Given the description of an element on the screen output the (x, y) to click on. 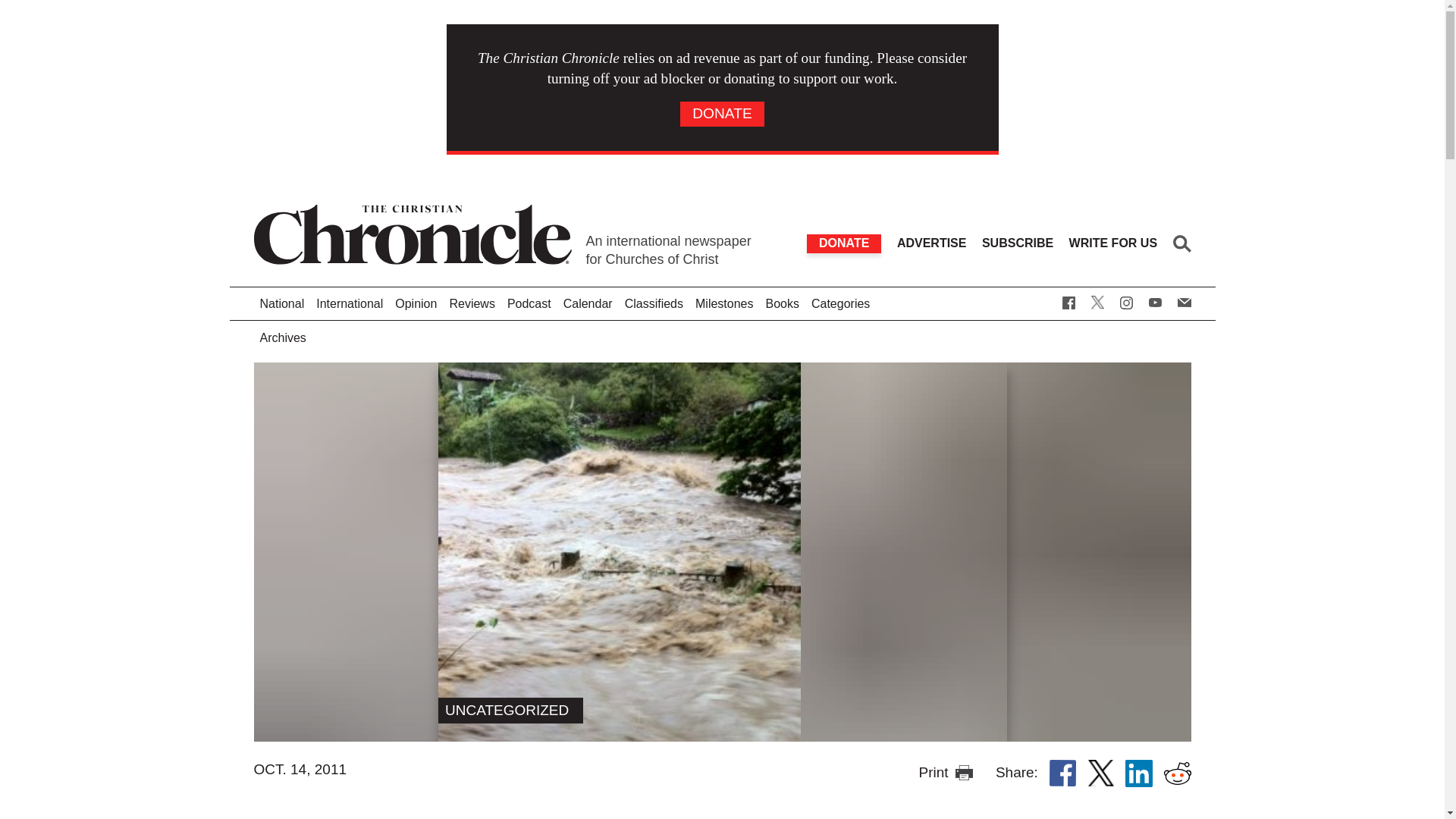
Opinion (415, 304)
Calendar (587, 304)
ADVERTISE (931, 243)
International (348, 304)
National (282, 304)
Podcast (528, 304)
WRITE FOR US (1112, 243)
Books (781, 304)
Reviews (471, 304)
SEARCH (1181, 243)
SUBSCRIBE (1016, 243)
Milestones (723, 304)
Classifieds (653, 304)
